Given the description of an element on the screen output the (x, y) to click on. 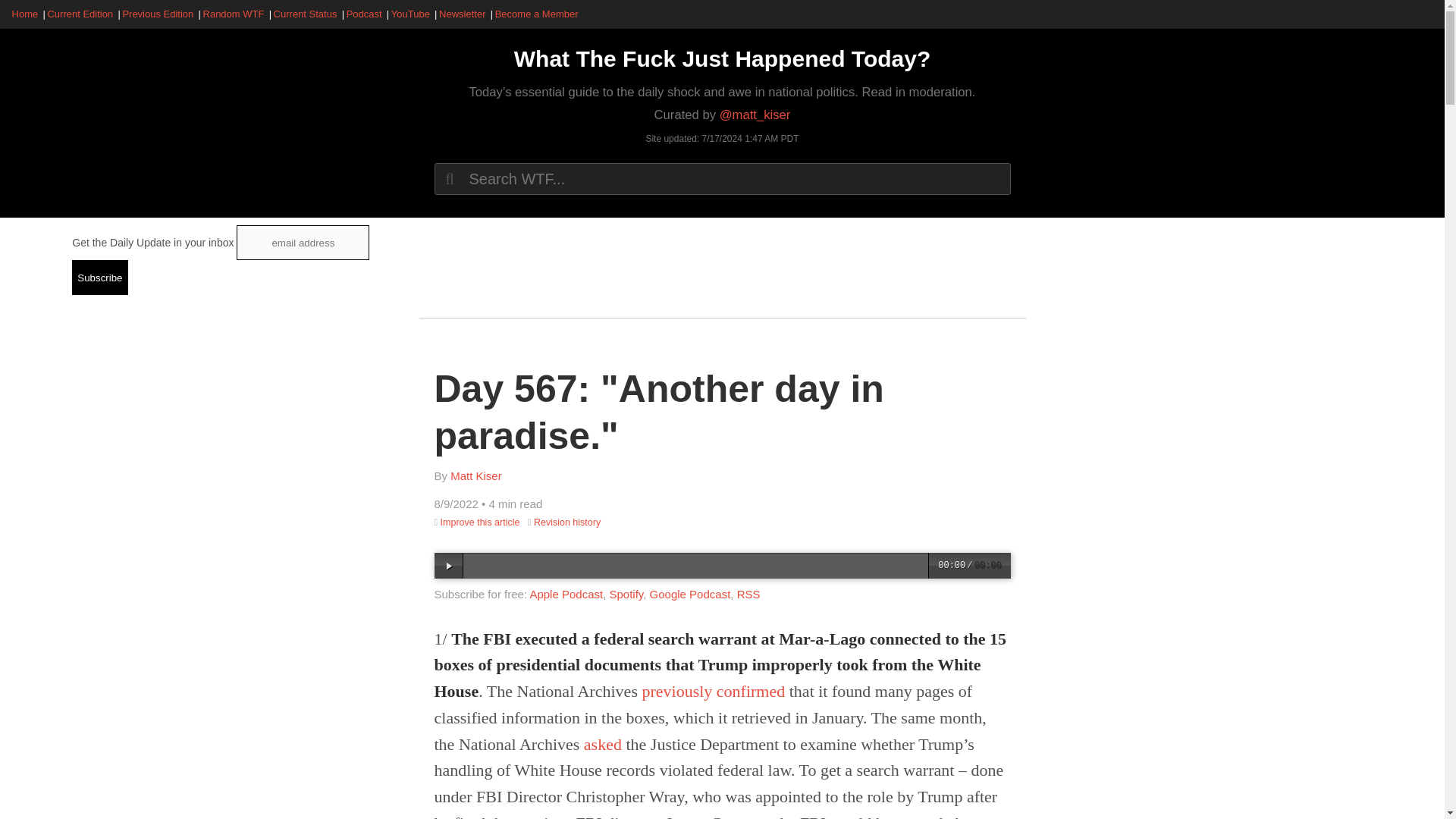
Current Edition (80, 13)
Newsletter (461, 13)
Apple Podcast (565, 594)
Spotify (625, 594)
YouTube (409, 13)
Subscribe (99, 277)
Home (722, 58)
Day 567: "Another day in paradise." (658, 412)
RSS (748, 594)
Estimated read time (511, 503)
Become a Member (536, 13)
Random WTF (233, 13)
Home (25, 13)
Improve this article (480, 521)
Subscribe (99, 277)
